Given the description of an element on the screen output the (x, y) to click on. 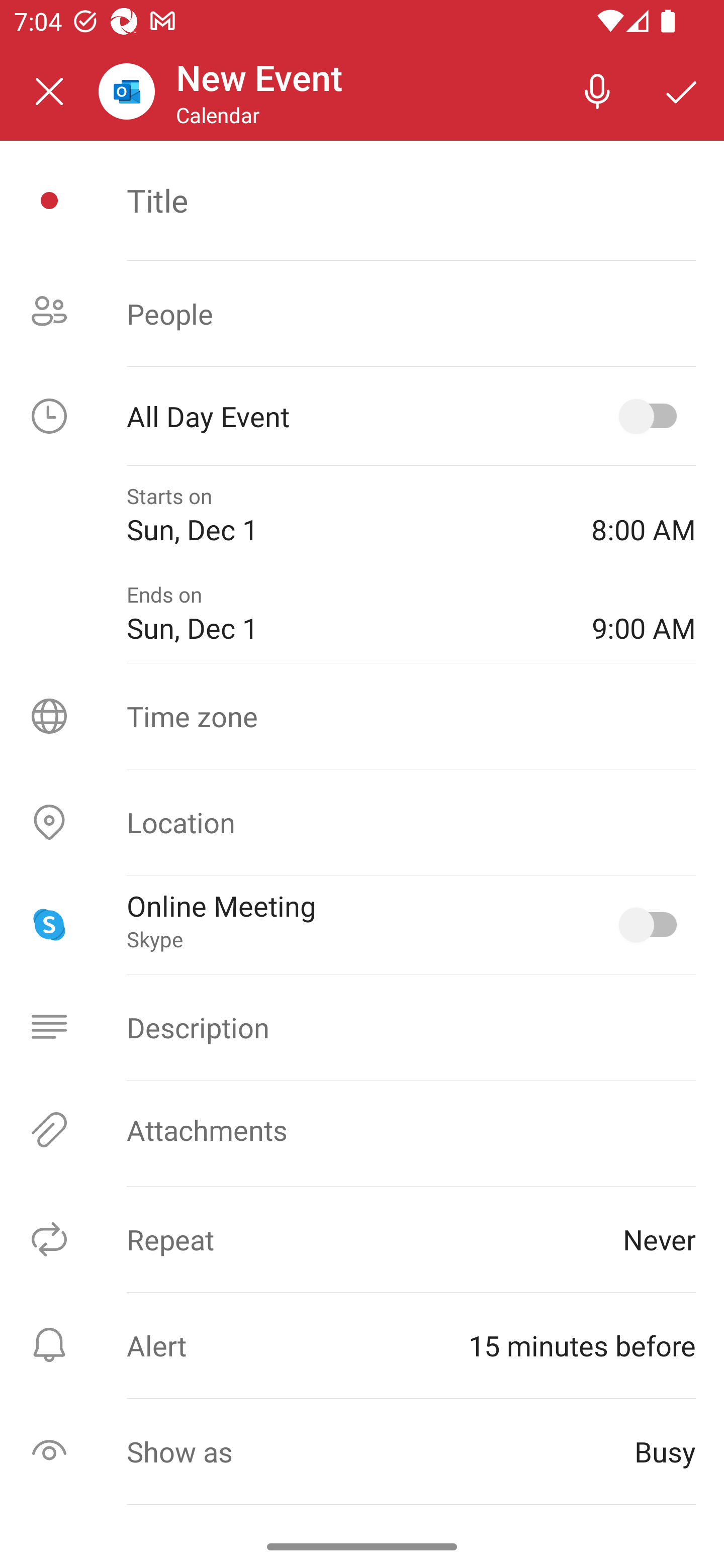
Close (49, 91)
Save (681, 90)
Title (410, 200)
Event icon picker (48, 200)
People (362, 313)
All Day Event (362, 415)
Starts on Sun, Dec 1 (344, 514)
8:00 AM (643, 514)
Ends on Sun, Dec 1 (344, 613)
9:00 AM (643, 613)
Time zone (362, 715)
Location (362, 821)
Online Meeting, Skype selected (651, 923)
Description (362, 1026)
Attachments (362, 1129)
Repeat Never (362, 1239)
Alert ⁨15 minutes before (362, 1345)
Show as Busy (362, 1450)
